Given the description of an element on the screen output the (x, y) to click on. 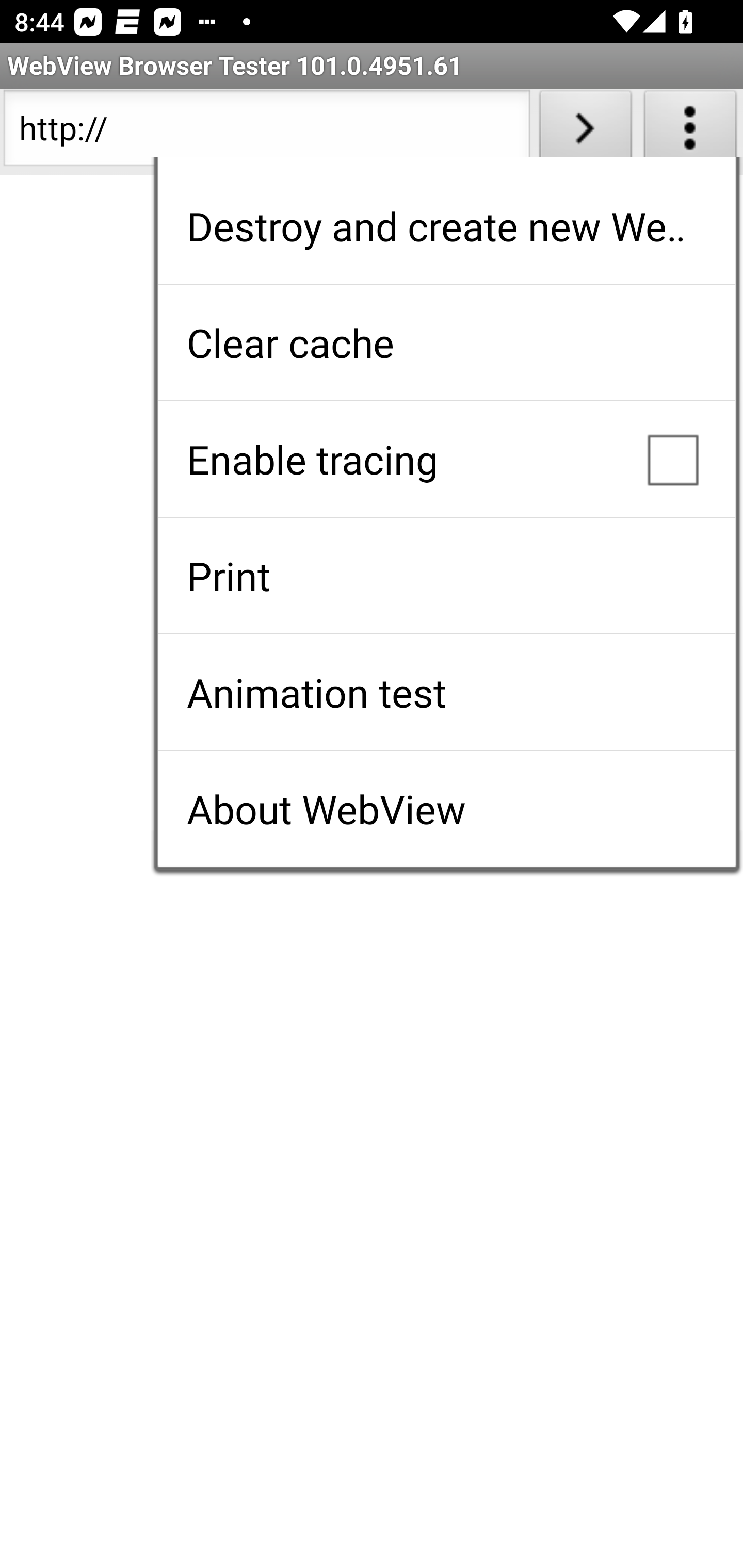
Destroy and create new WebView (446, 225)
Clear cache (446, 342)
Enable tracing (446, 459)
Print (446, 575)
Animation test (446, 692)
About WebView (446, 809)
